Given the description of an element on the screen output the (x, y) to click on. 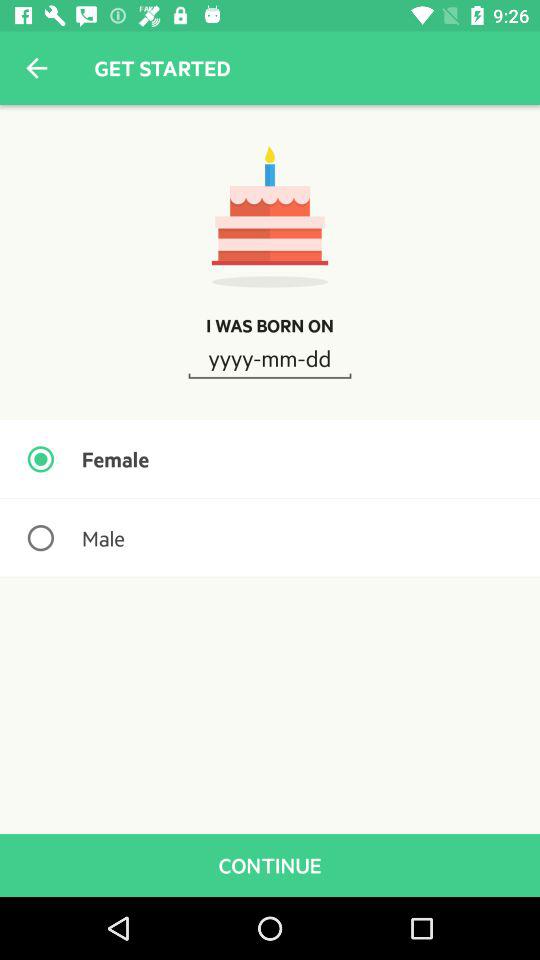
scroll until the continue item (270, 864)
